Given the description of an element on the screen output the (x, y) to click on. 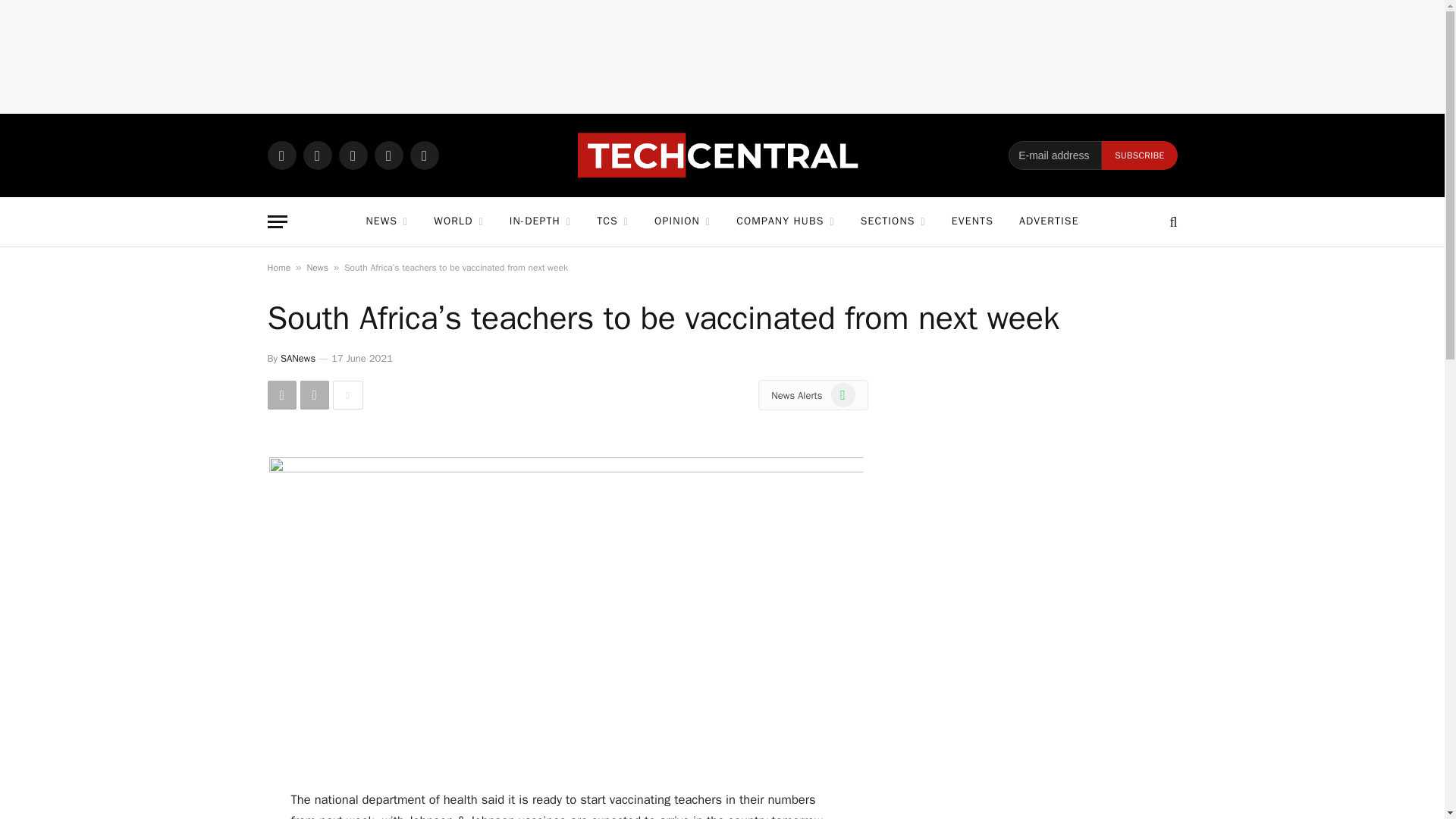
WhatsApp (280, 154)
NEWS (386, 221)
Subscribe (1139, 154)
WORLD (458, 221)
IN-DEPTH (539, 221)
TechCentral (722, 155)
Subscribe (1139, 154)
Facebook (316, 154)
YouTube (423, 154)
LinkedIn (388, 154)
